Given the description of an element on the screen output the (x, y) to click on. 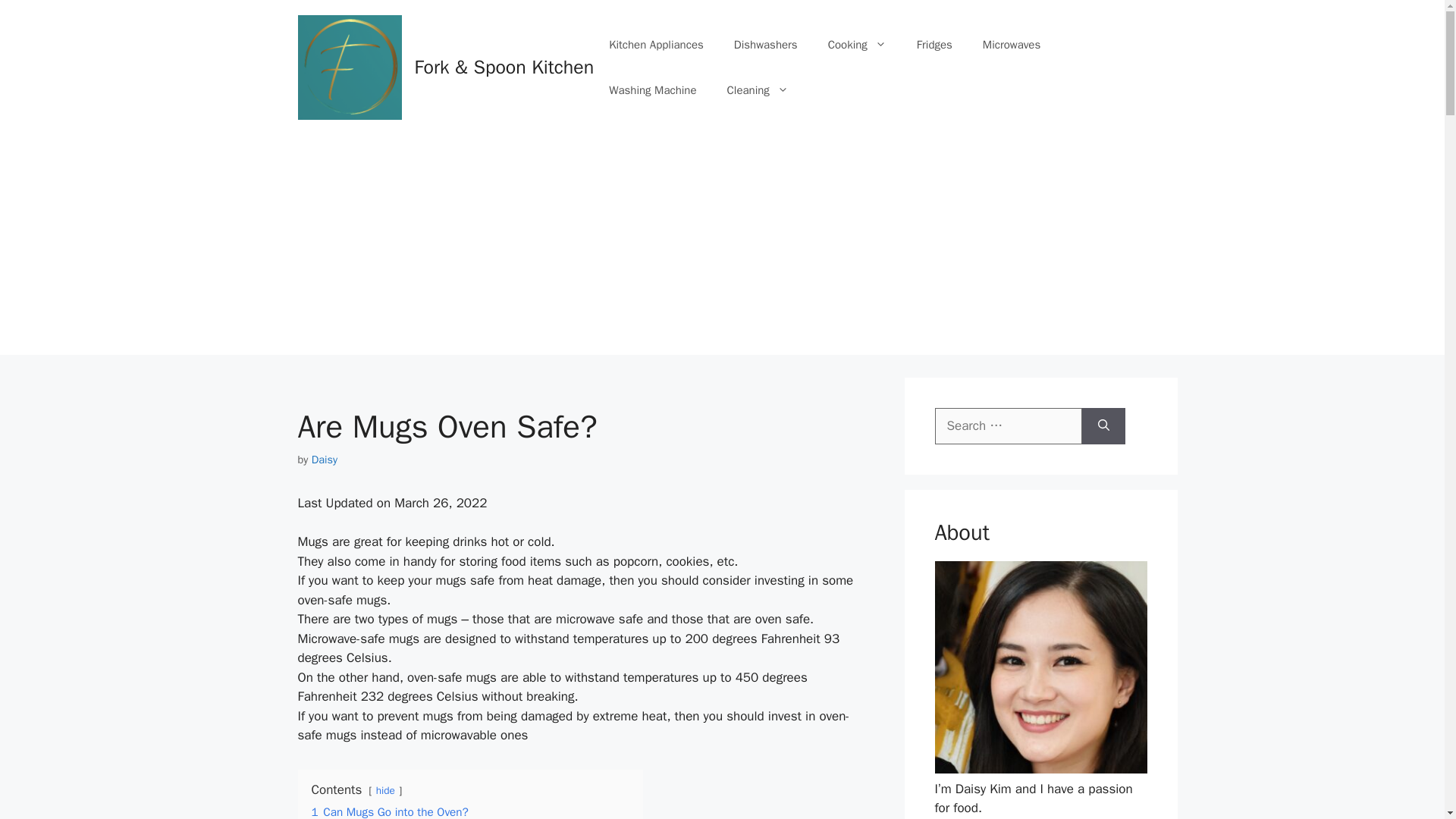
View all posts by Daisy (324, 459)
Search for: (1007, 425)
Kitchen Appliances (656, 44)
Microwaves (1011, 44)
hide (384, 789)
Cleaning (757, 90)
Cooking (856, 44)
1 Can Mugs Go into the Oven? (389, 811)
Dishwashers (765, 44)
Fridges (934, 44)
Daisy (324, 459)
Washing Machine (652, 90)
